Given the description of an element on the screen output the (x, y) to click on. 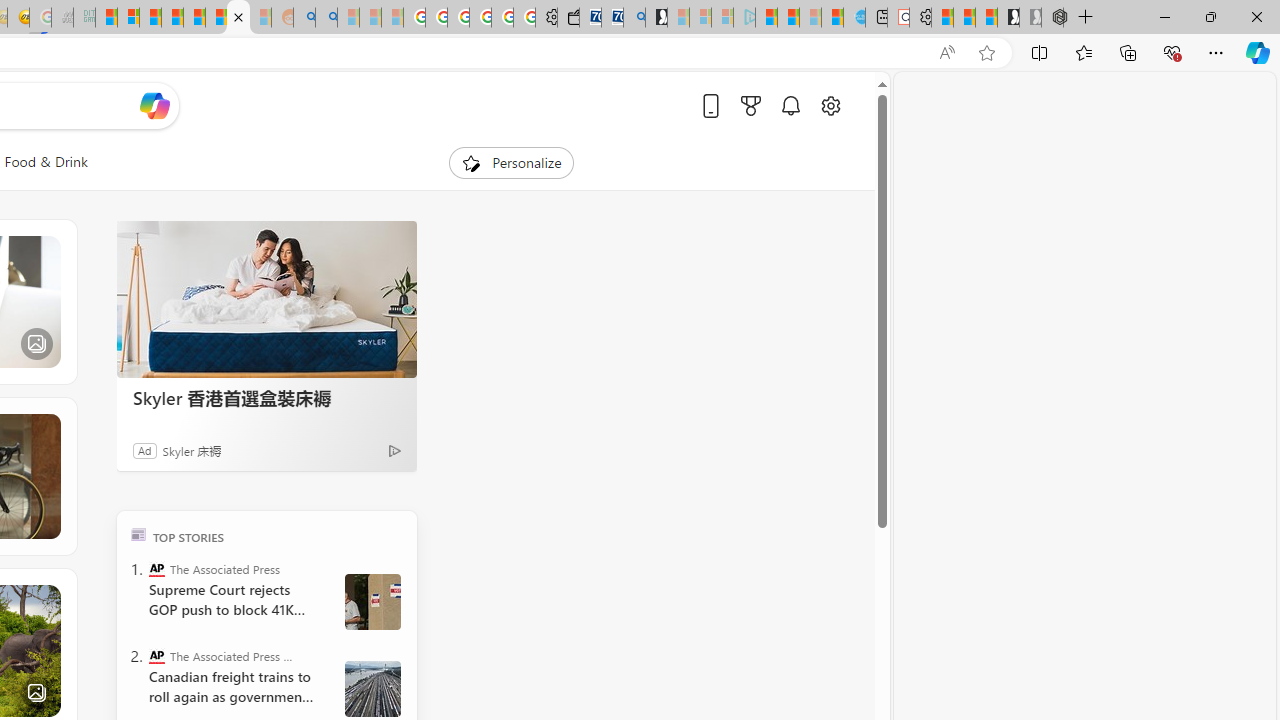
See more (46, 598)
Open settings (830, 105)
Bing Real Estate - Home sales and rental listings (634, 17)
MSNBC - MSN (106, 17)
Open Copilot (155, 105)
